Given the description of an element on the screen output the (x, y) to click on. 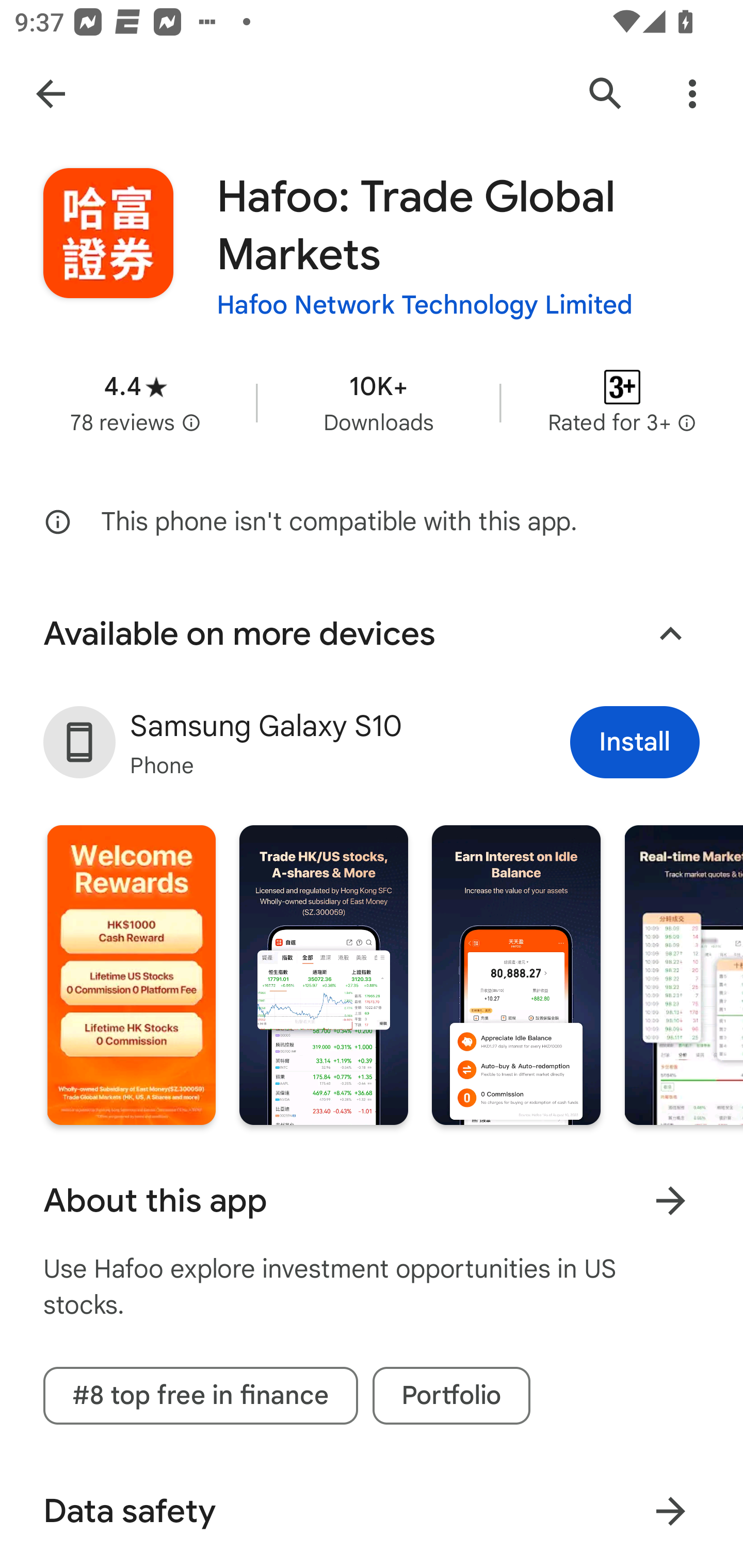
Navigate up (50, 93)
Search Google Play (605, 93)
More Options (692, 93)
Hafoo Network Technology Limited (424, 304)
Average rating 4.4 stars in 78 reviews (135, 402)
Content rating Rated for 3+ (622, 402)
Available on more devices Collapse (371, 634)
Collapse (670, 634)
Install (634, 742)
Screenshot "1" of "8" (130, 974)
Screenshot "2" of "8" (323, 974)
Screenshot "3" of "8" (515, 974)
About this app Learn more About this app (371, 1200)
Learn more About this app (670, 1200)
#8 top free in finance tag (200, 1395)
Portfolio tag (451, 1395)
Data safety Learn more about data safety (371, 1511)
Learn more about data safety (670, 1510)
